Given the description of an element on the screen output the (x, y) to click on. 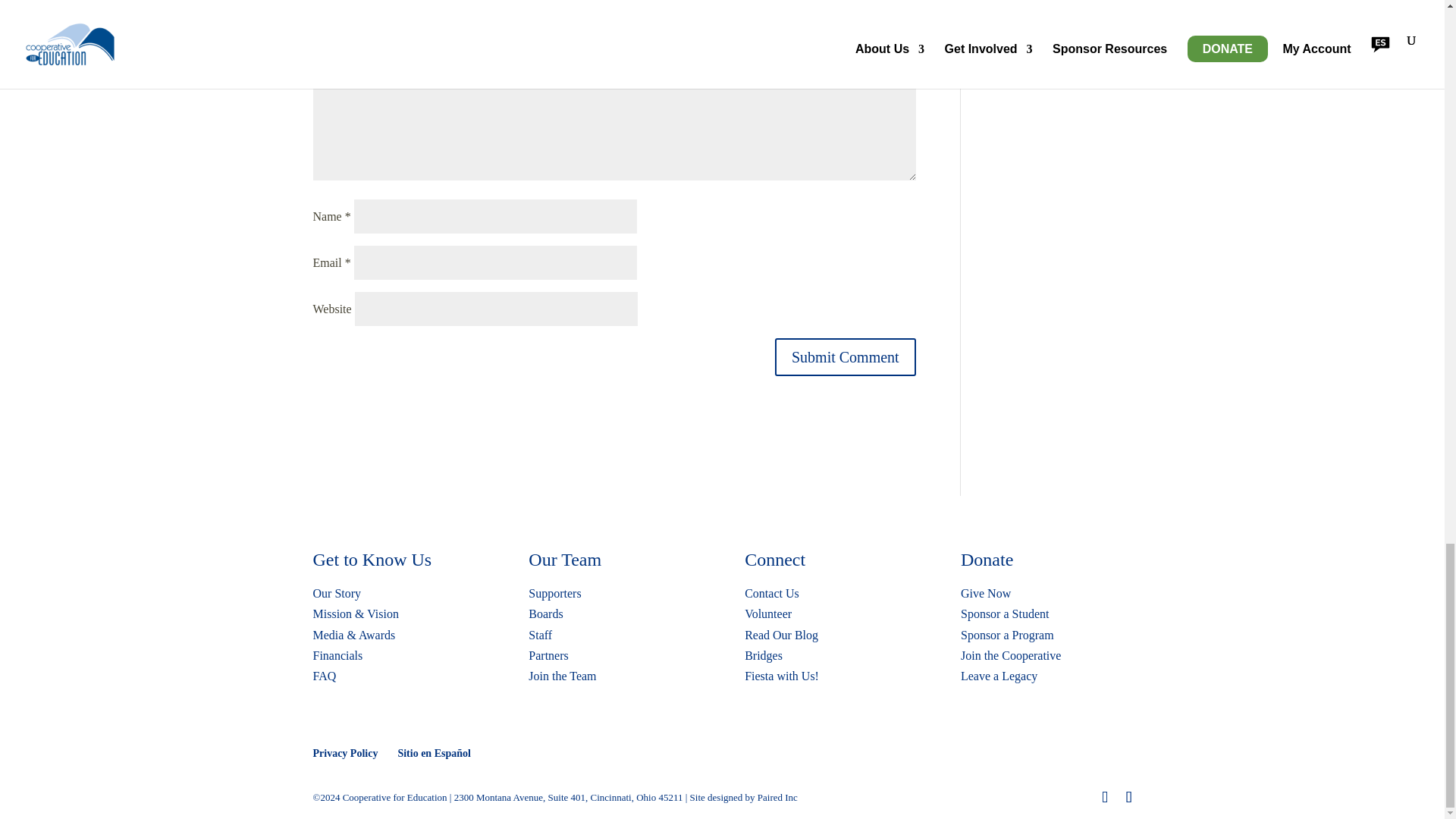
Submit Comment (844, 356)
Submit Comment (844, 356)
